Given the description of an element on the screen output the (x, y) to click on. 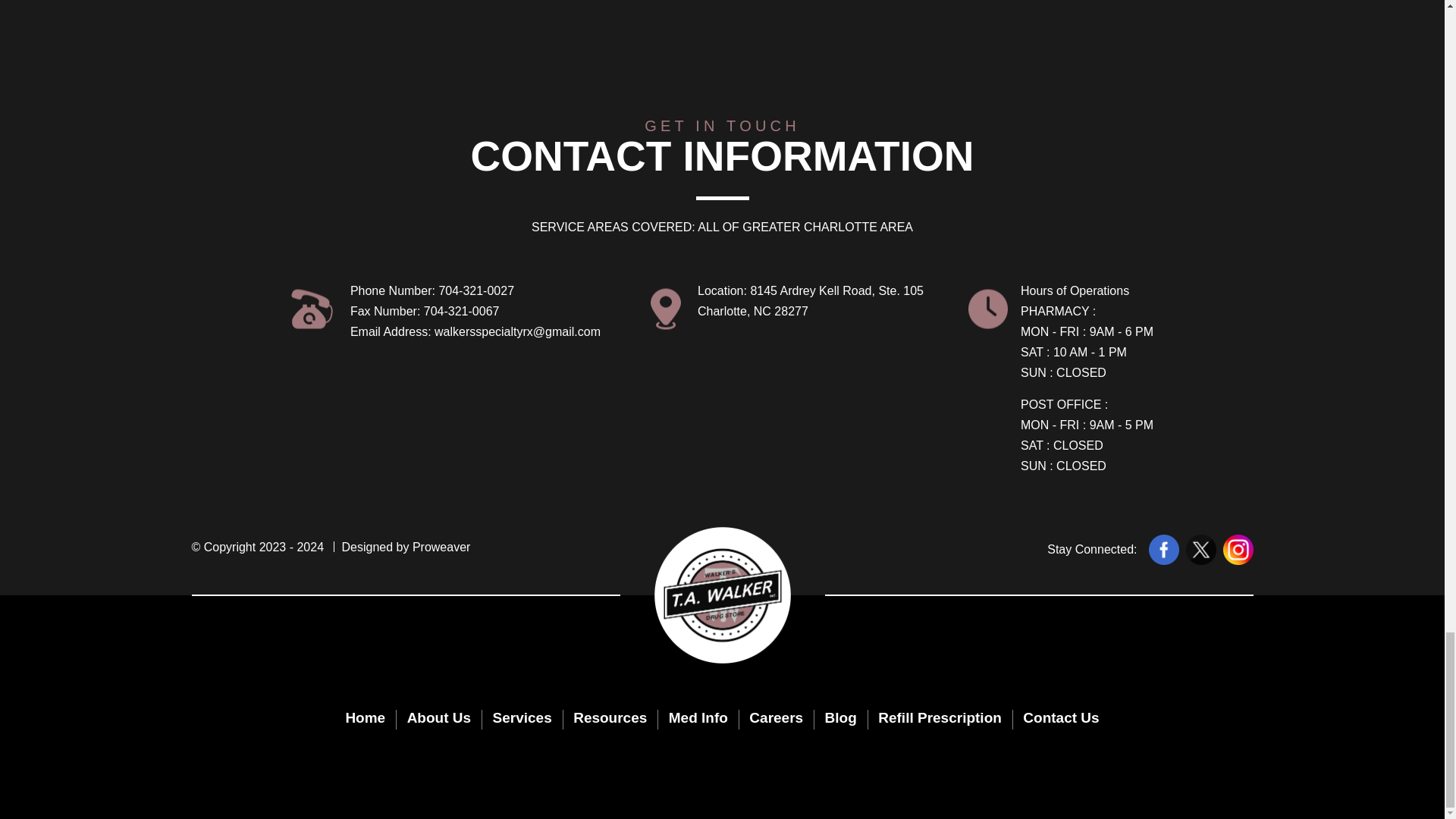
Proweaver (441, 546)
Blog (840, 718)
Med Info (697, 718)
Home (369, 718)
Careers (775, 718)
Contact Us (1056, 718)
Services (521, 718)
Resources (610, 718)
Refill Prescription (939, 718)
About Us (438, 718)
